Given the description of an element on the screen output the (x, y) to click on. 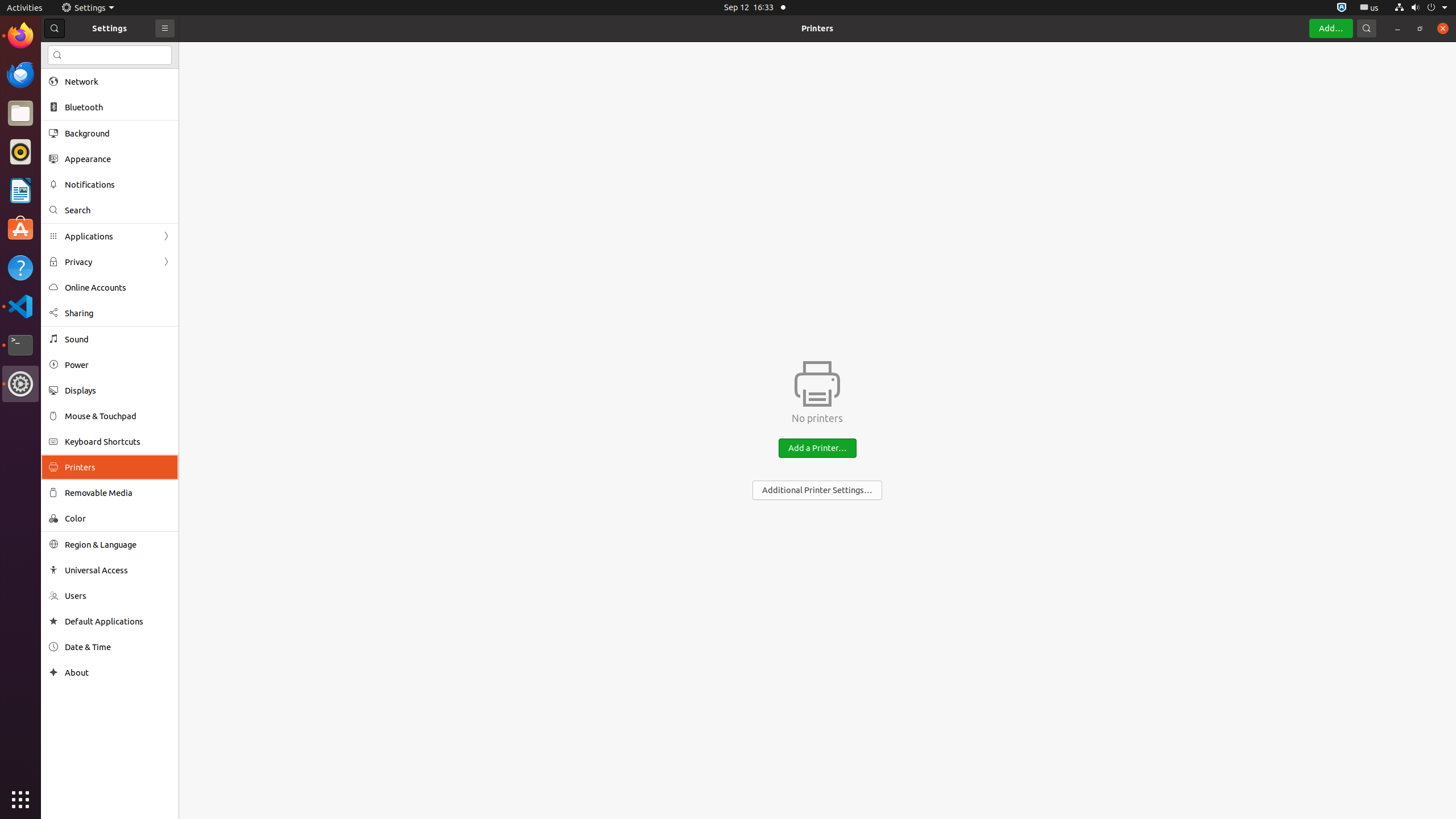
Users Element type: label (117, 595)
Settings Element type: menu (87, 7)
Forward Element type: icon (165, 261)
Online Accounts Element type: label (117, 287)
